Given the description of an element on the screen output the (x, y) to click on. 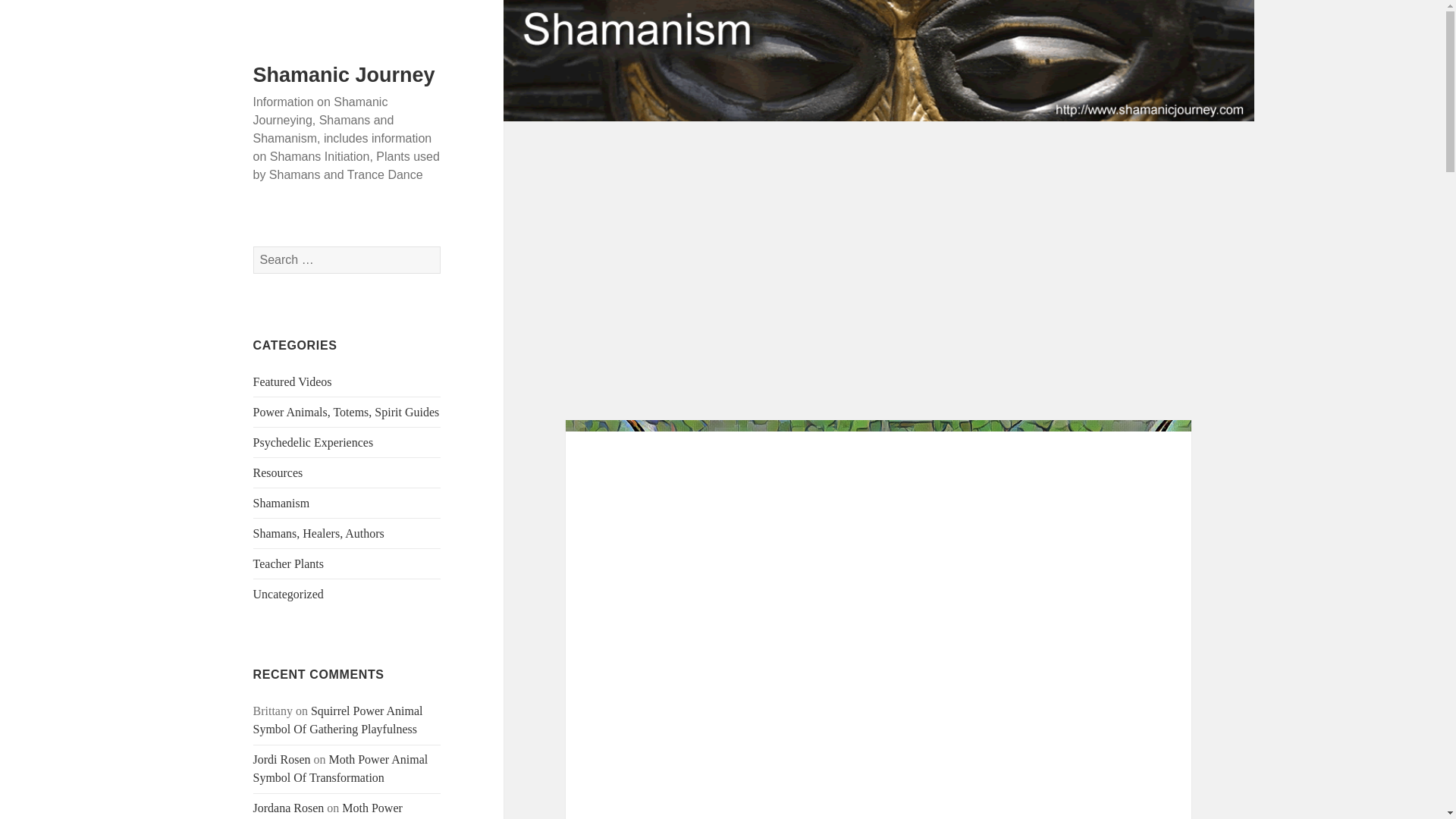
Featured Videos (292, 381)
Teacher Plants (288, 563)
Moth Power Animal Symbol Of Transformation (338, 810)
Shamanic Journey (344, 74)
Shamanism (281, 502)
Moth Power Animal Symbol Of Transformation (340, 767)
Shamans, Healers, Authors (318, 533)
